Given the description of an element on the screen output the (x, y) to click on. 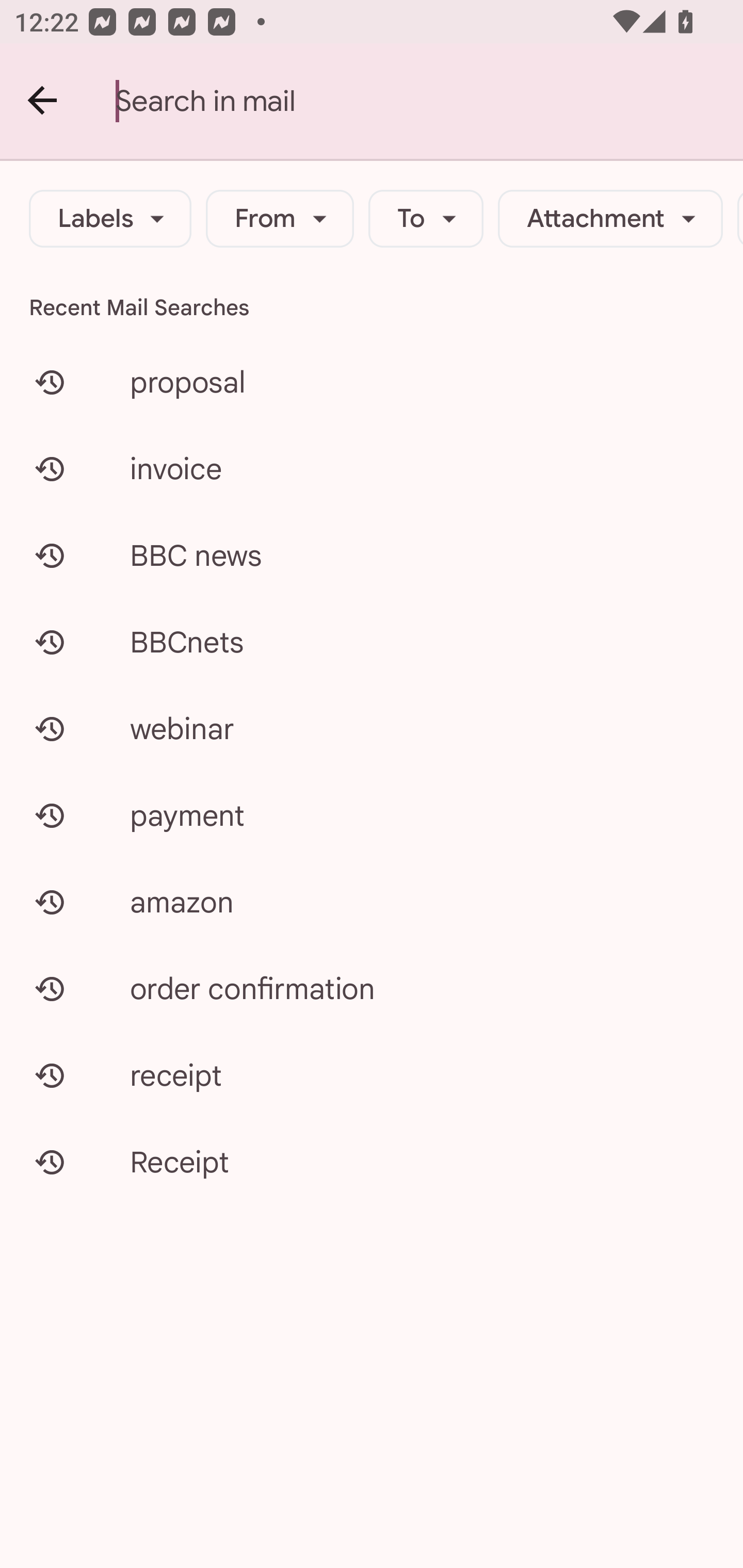
Back (43, 101)
Search in mail (429, 101)
Labels (109, 218)
From (279, 218)
To (425, 218)
Attachment (609, 218)
Recent Mail Searches (371, 306)
proposal Suggestion: proposal (371, 381)
invoice Suggestion: invoice (371, 468)
BBC news Suggestion: BBC news (371, 555)
BBCnets Suggestion: BBCnets (371, 641)
webinar Suggestion: webinar (371, 728)
payment Suggestion: payment (371, 815)
order confirmation Suggestion: order confirmation (371, 988)
receipt Suggestion: receipt (371, 1074)
Receipt Suggestion: Receipt (371, 1161)
